Given the description of an element on the screen output the (x, y) to click on. 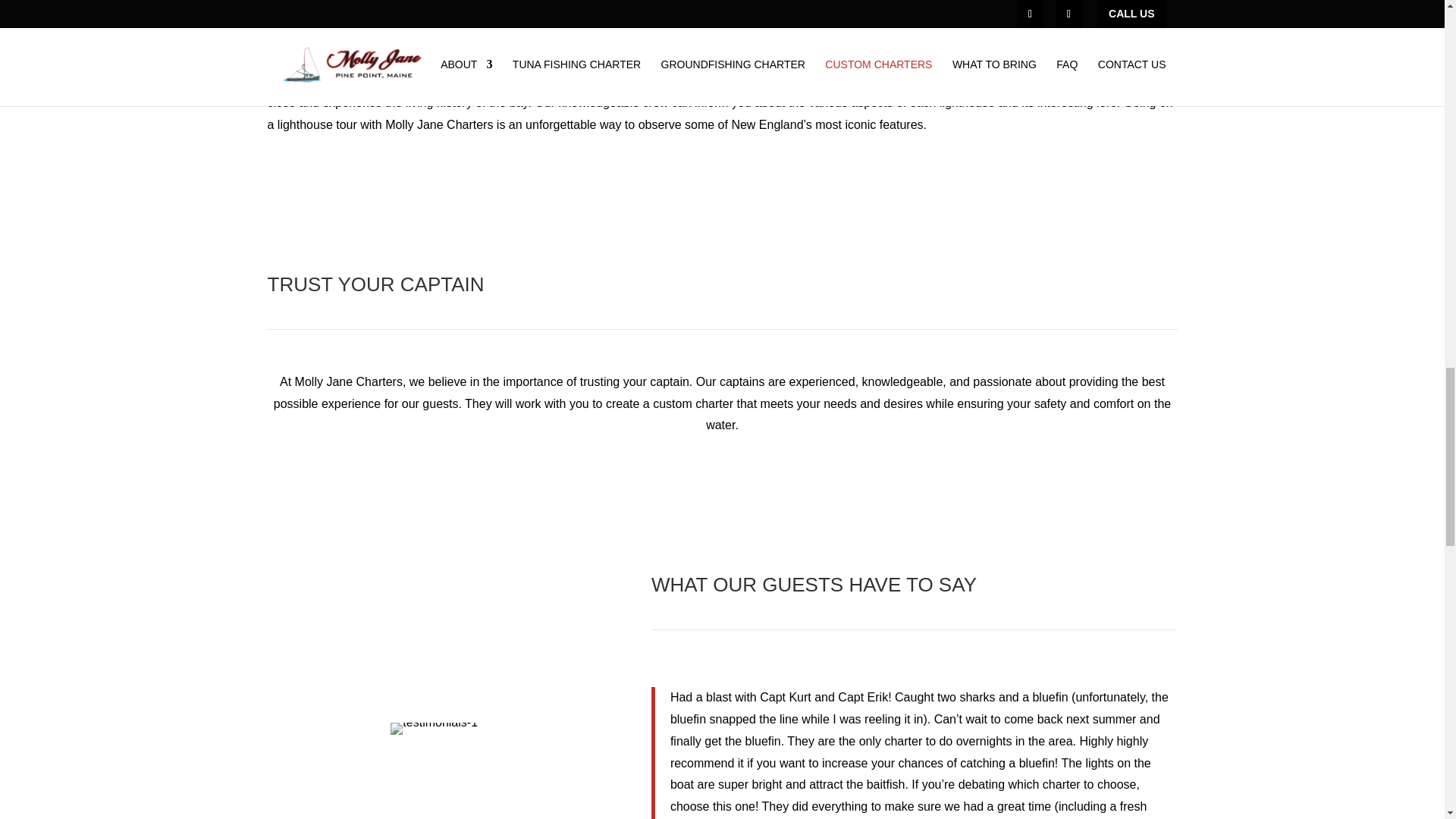
testimonials-1 (433, 728)
